Given the description of an element on the screen output the (x, y) to click on. 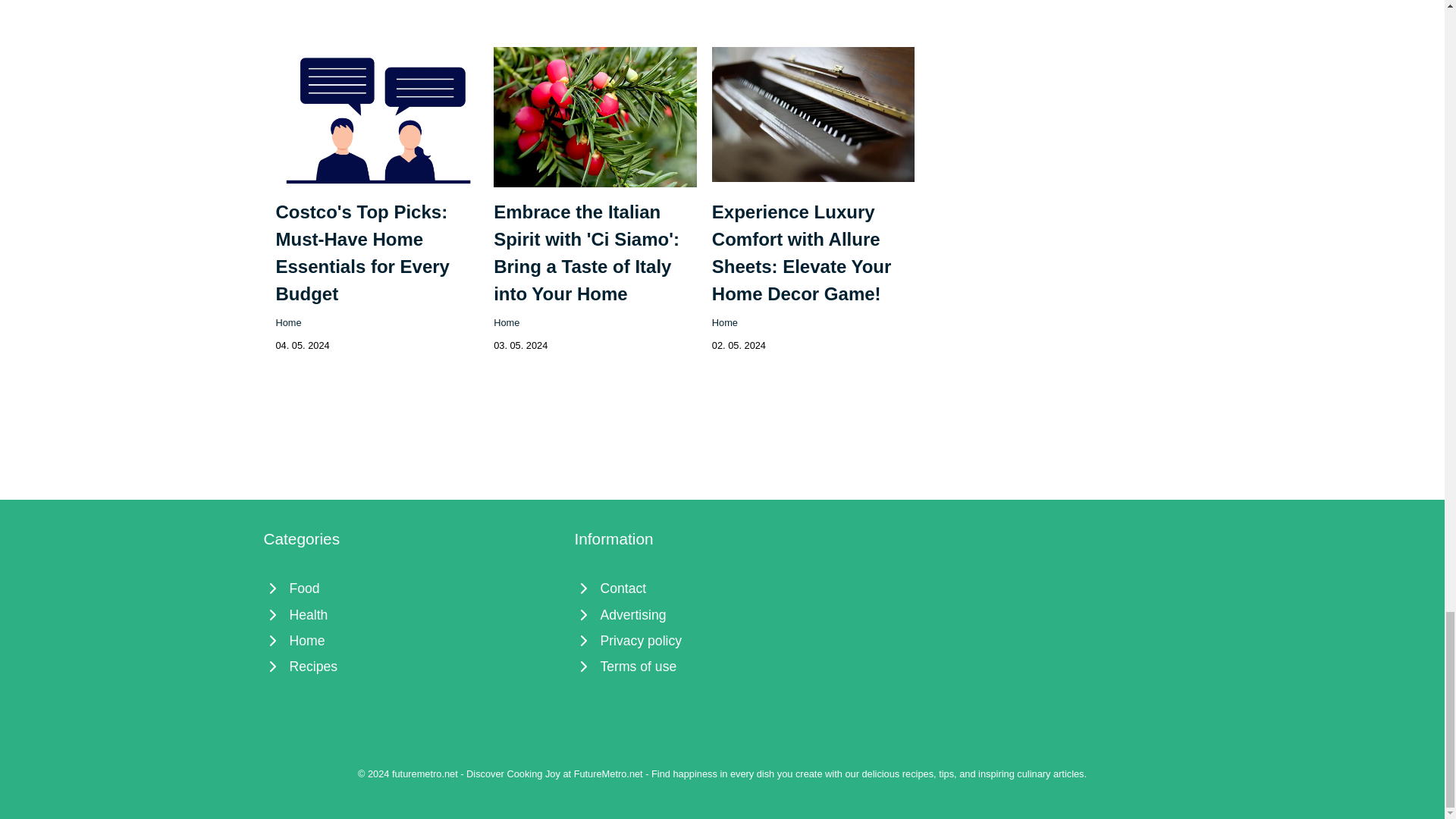
Terms of use (722, 666)
Home (506, 322)
Home (411, 640)
Contact (722, 588)
Recipes (411, 666)
Privacy policy (722, 640)
Health (411, 614)
Home (724, 322)
Food (411, 588)
Advertising (722, 614)
Home (288, 322)
